Given the description of an element on the screen output the (x, y) to click on. 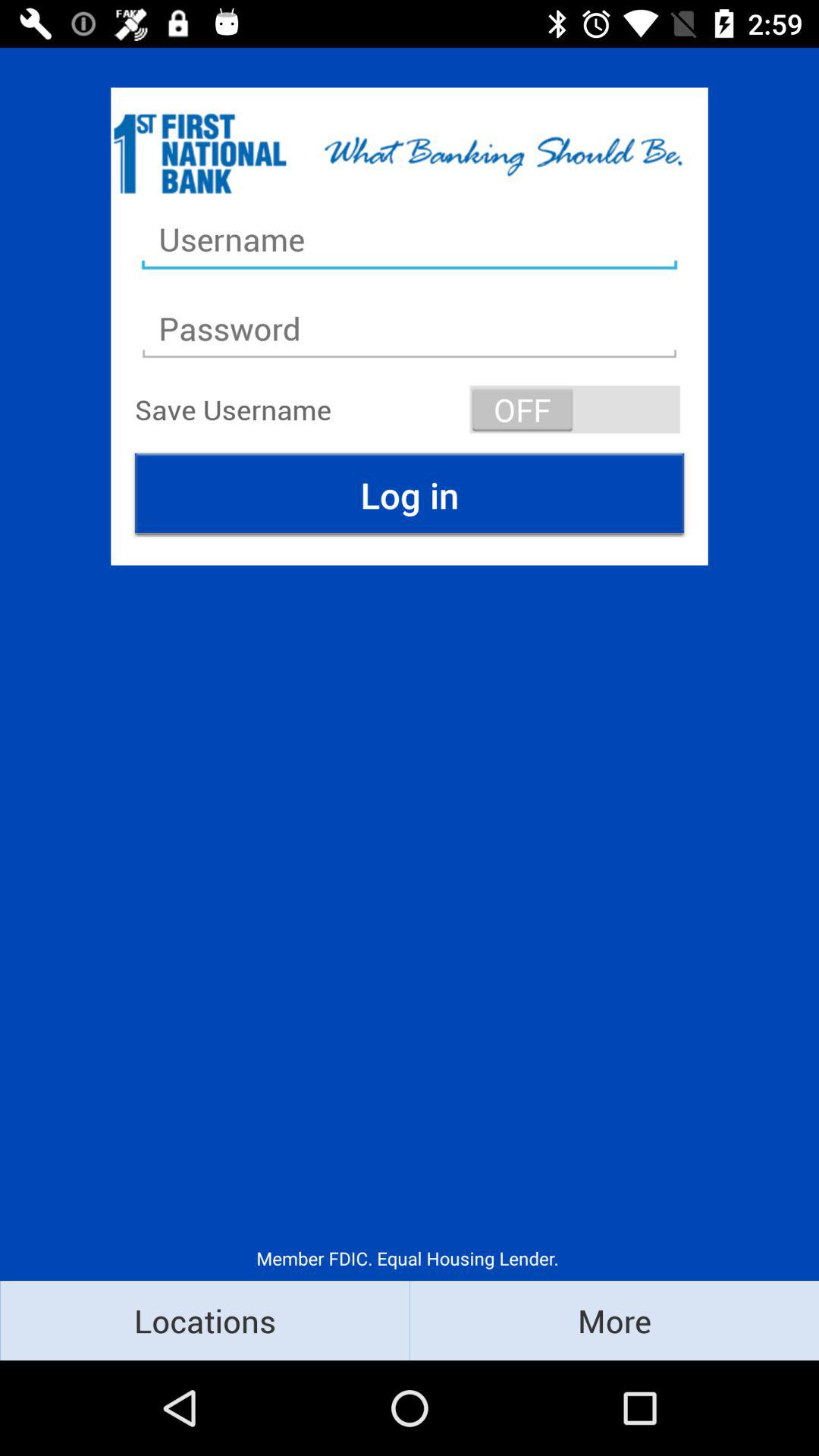
launch locations icon (204, 1320)
